Given the description of an element on the screen output the (x, y) to click on. 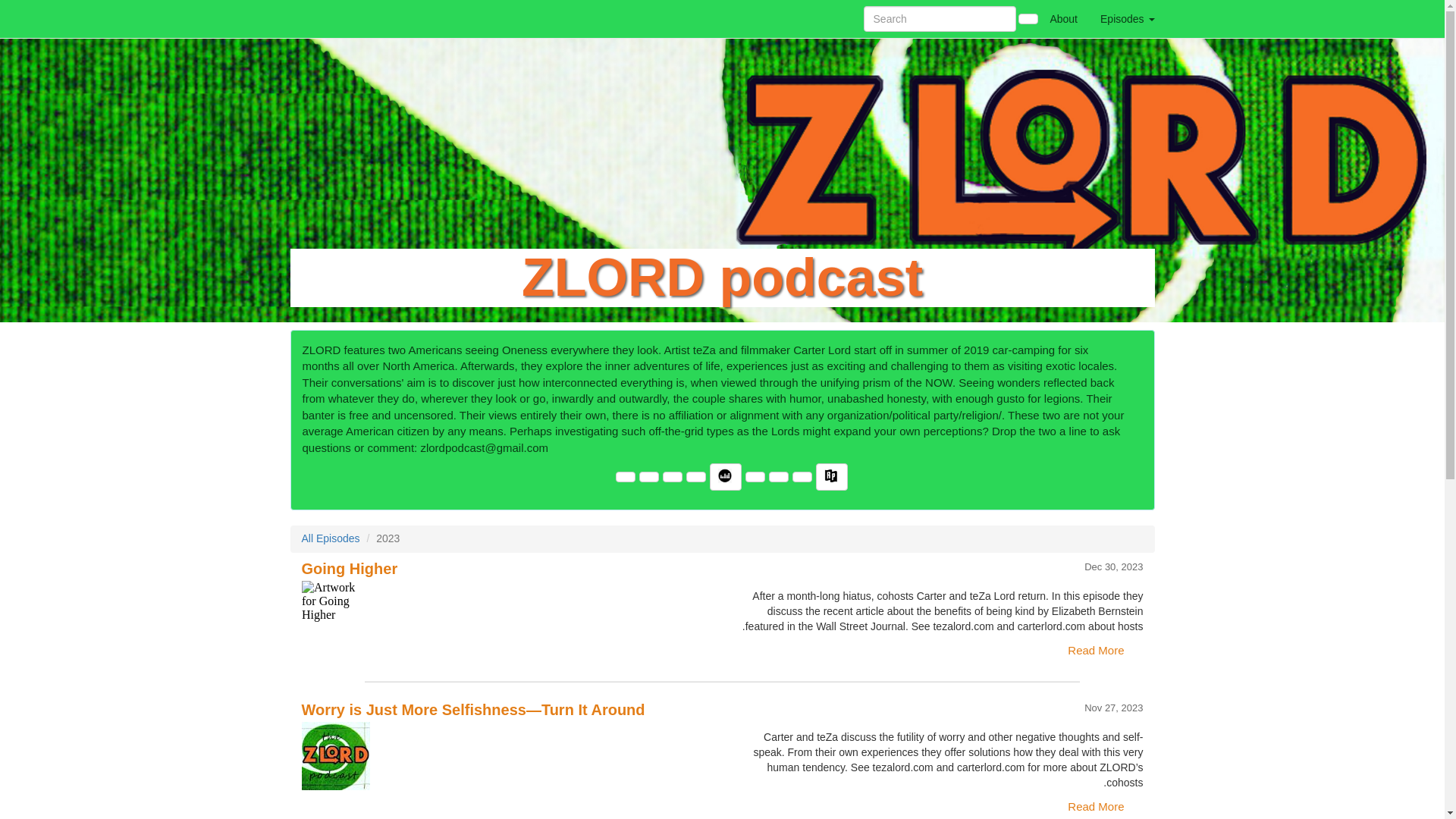
Home Page (320, 18)
About (1063, 18)
Episodes (1127, 18)
Going Higher (506, 614)
